Given the description of an element on the screen output the (x, y) to click on. 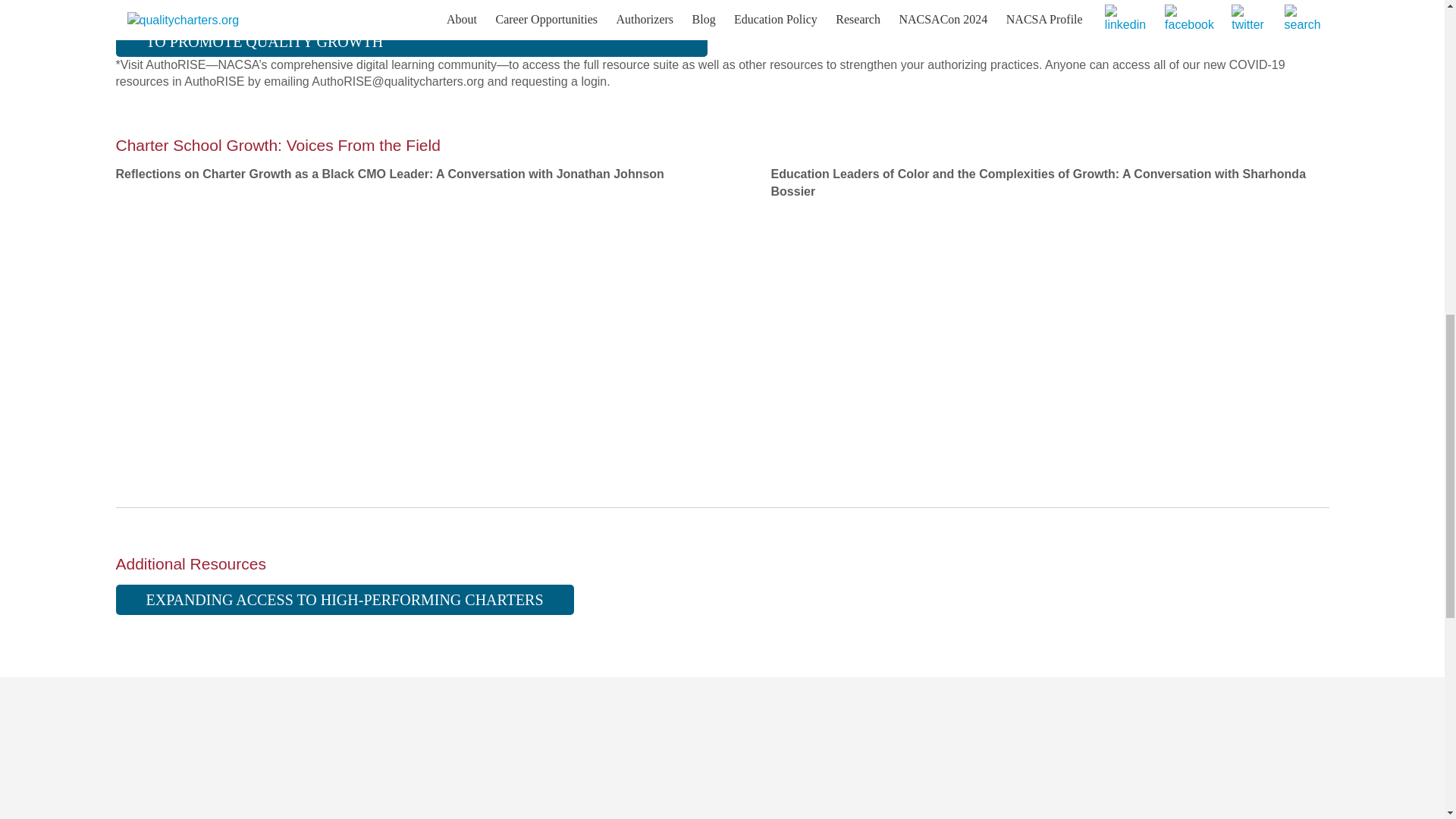
EXPANDING ACCESS TO HIGH-PERFORMING CHARTERS (344, 599)
